Given the description of an element on the screen output the (x, y) to click on. 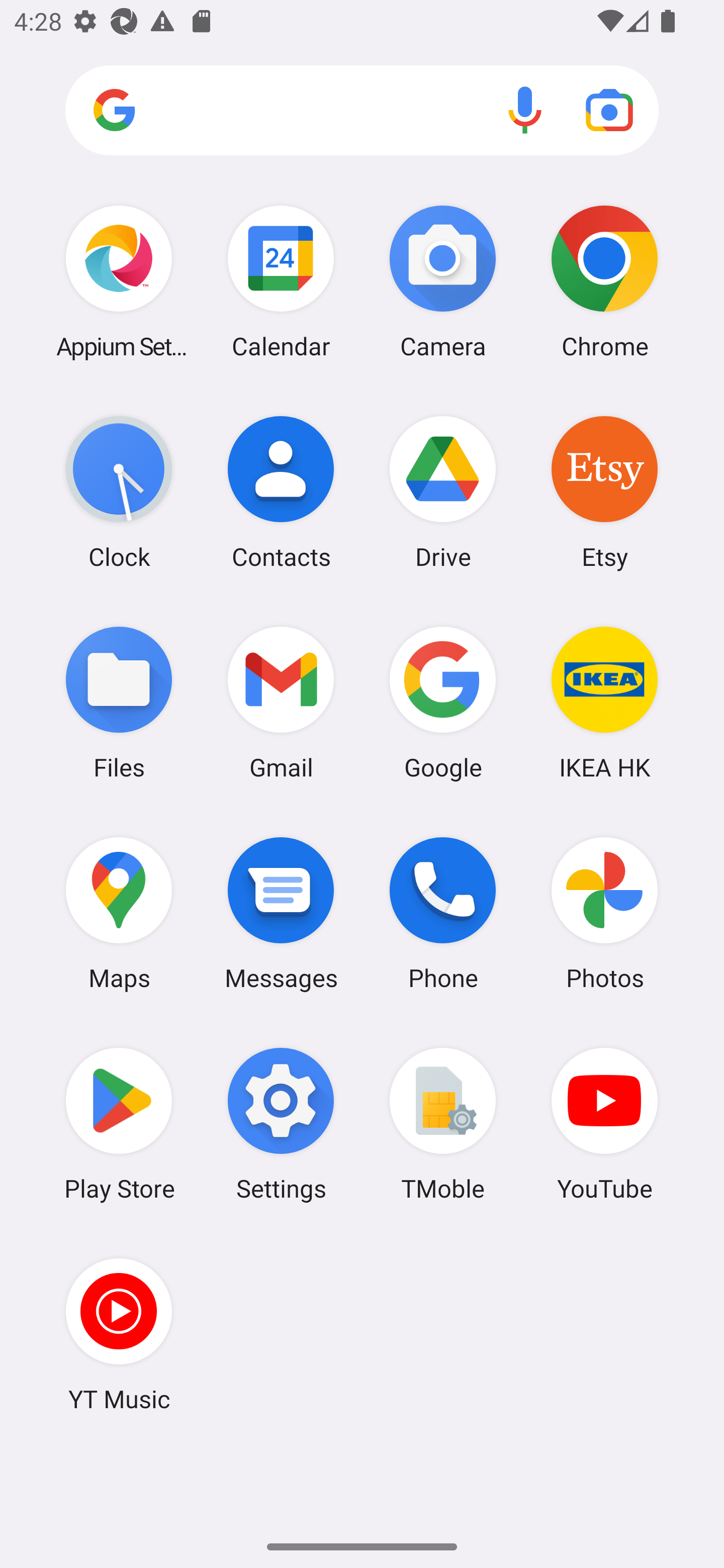
Search apps, web and more (361, 110)
Voice search (524, 109)
Google Lens (608, 109)
Appium Settings (118, 281)
Calendar (280, 281)
Camera (443, 281)
Chrome (604, 281)
Clock (118, 492)
Contacts (280, 492)
Drive (443, 492)
Etsy (604, 492)
Files (118, 702)
Gmail (280, 702)
Google (443, 702)
IKEA HK (604, 702)
Maps (118, 913)
Messages (280, 913)
Phone (443, 913)
Photos (604, 913)
Play Store (118, 1124)
Settings (280, 1124)
TMoble (443, 1124)
YouTube (604, 1124)
YT Music (118, 1334)
